Given the description of an element on the screen output the (x, y) to click on. 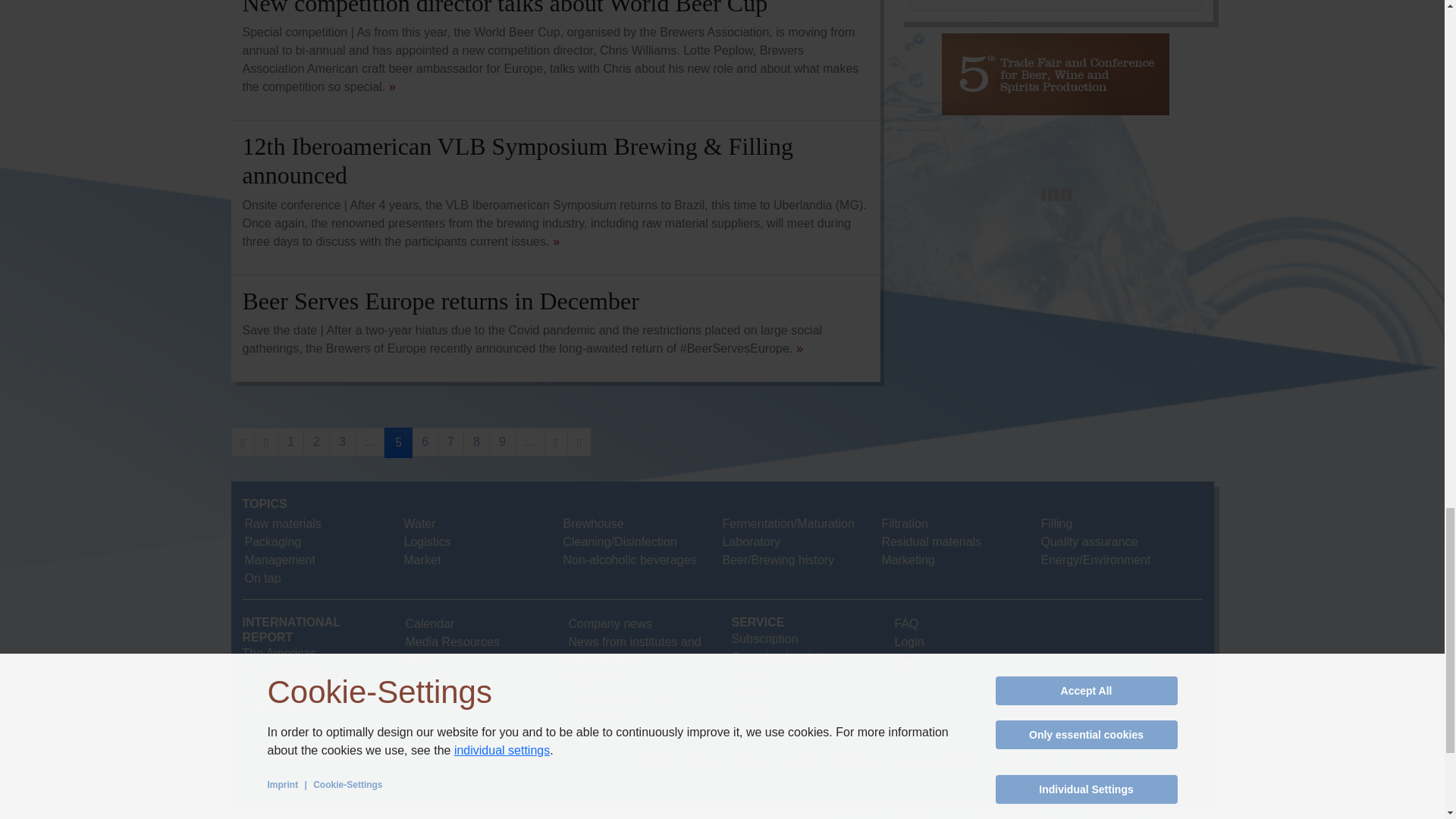
2 (316, 441)
6 (425, 441)
3 (342, 441)
8 (476, 441)
1 (291, 441)
7 (451, 441)
10 (529, 441)
9 (502, 441)
4 (369, 441)
